Given the description of an element on the screen output the (x, y) to click on. 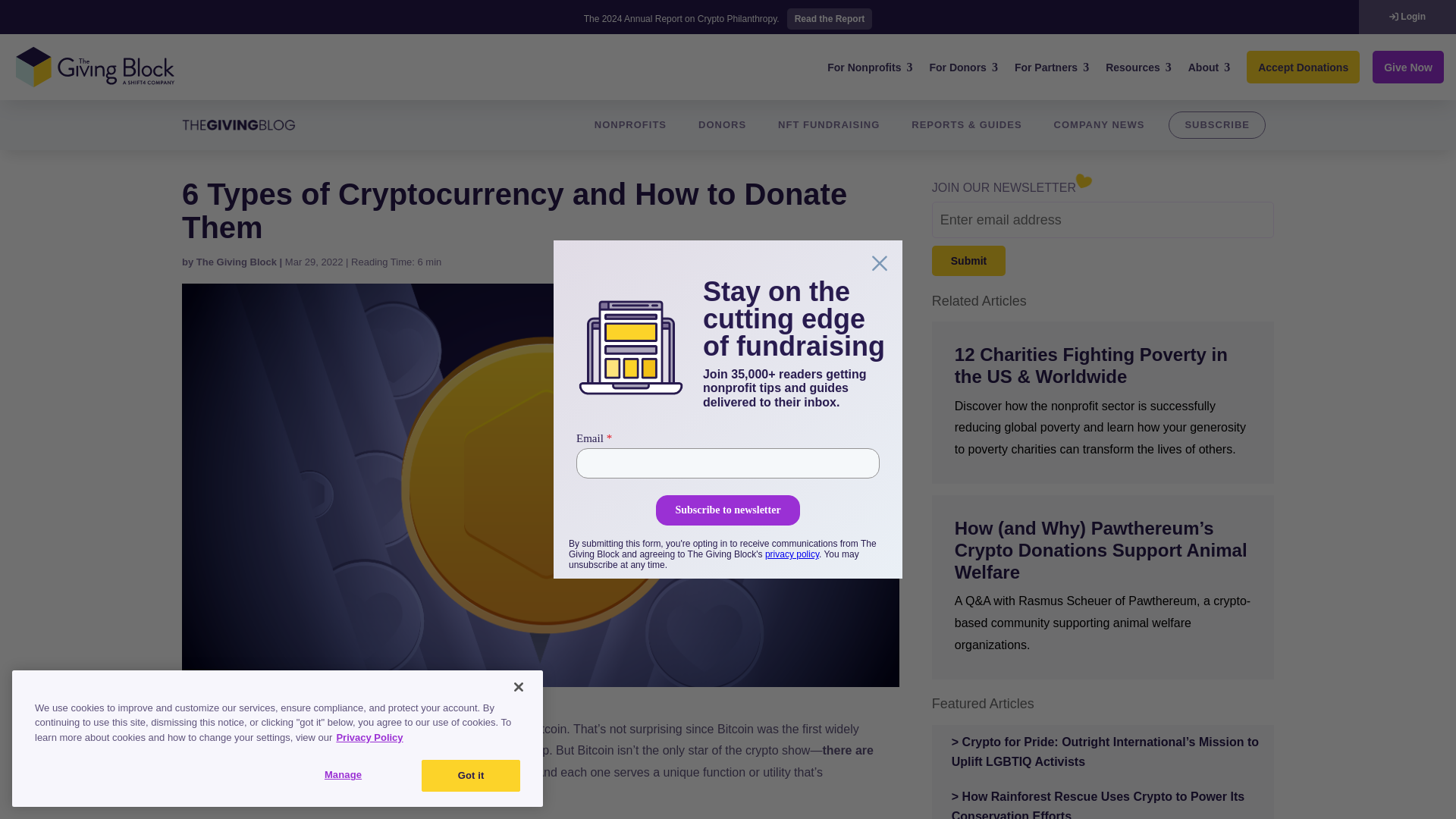
For Donors (962, 67)
Submit (968, 260)
For Nonprofits (869, 67)
For Partners (1051, 67)
Posts by The Giving Block (236, 262)
